Given the description of an element on the screen output the (x, y) to click on. 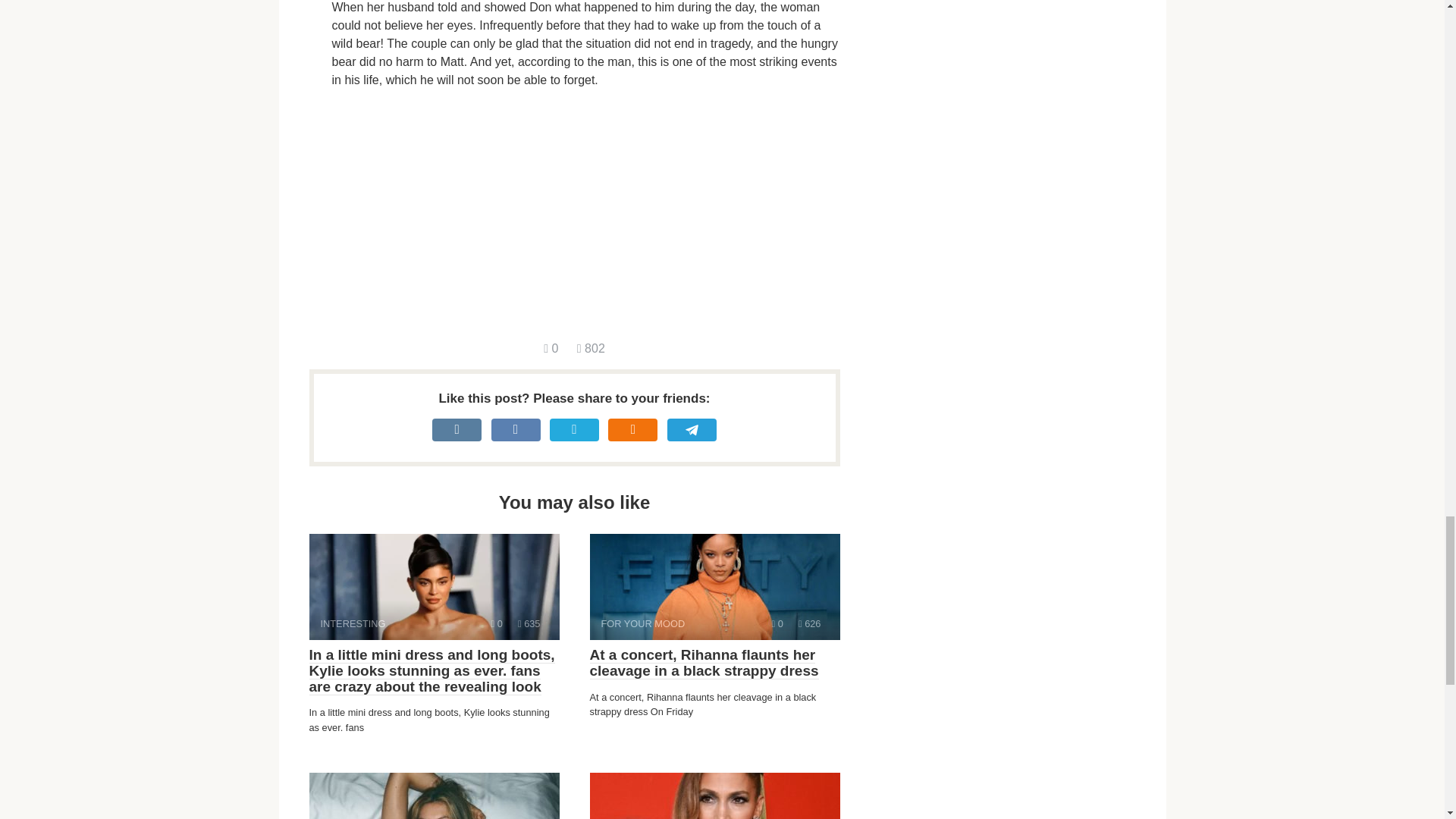
Views (529, 623)
Views (590, 348)
Comments (714, 586)
Views (497, 623)
Comments (809, 623)
